Given the description of an element on the screen output the (x, y) to click on. 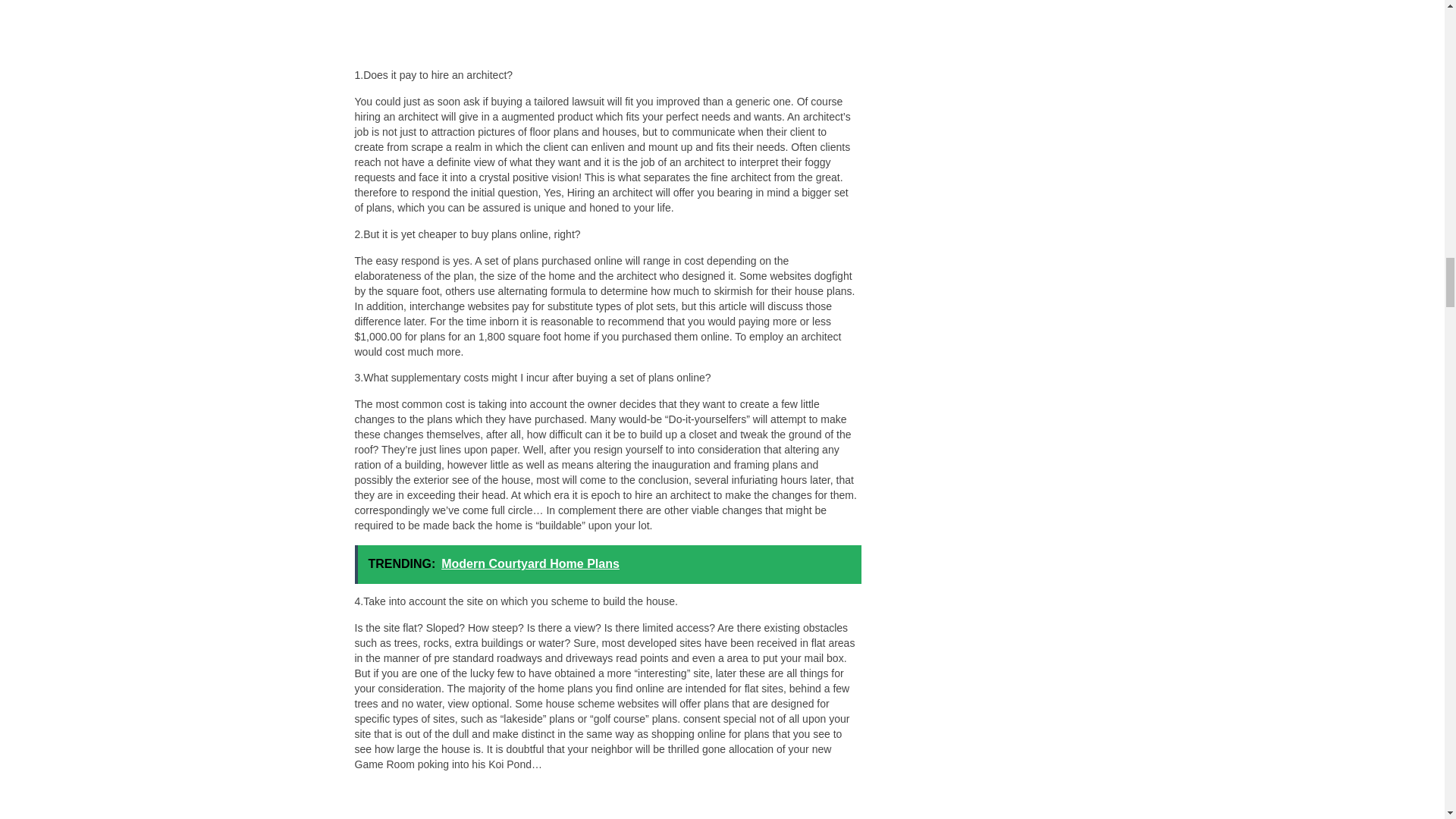
TRENDING:  Modern Courtyard Home Plans (608, 564)
